Given the description of an element on the screen output the (x, y) to click on. 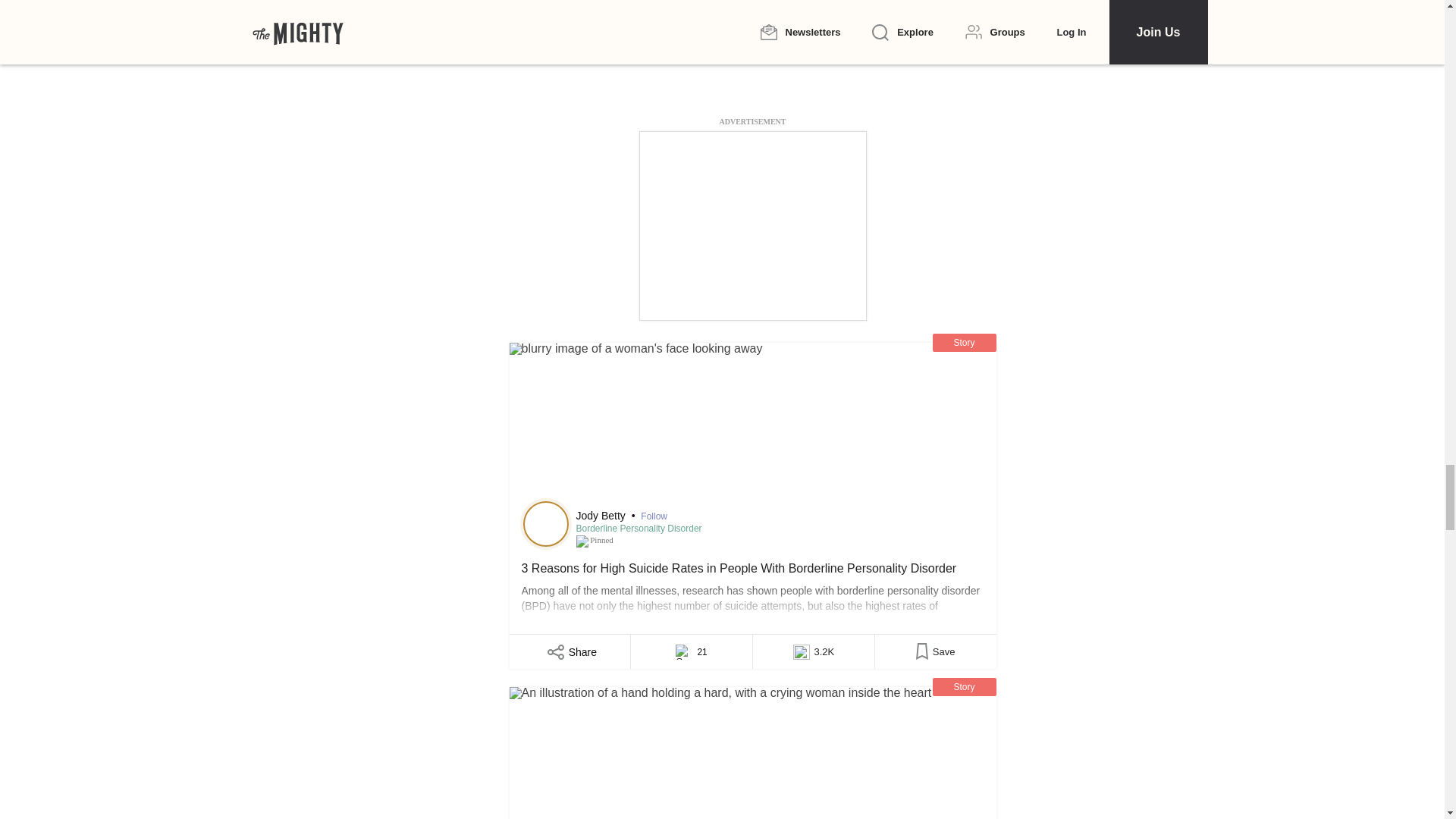
Visit Jody Betty's profile (545, 524)
